Given the description of an element on the screen output the (x, y) to click on. 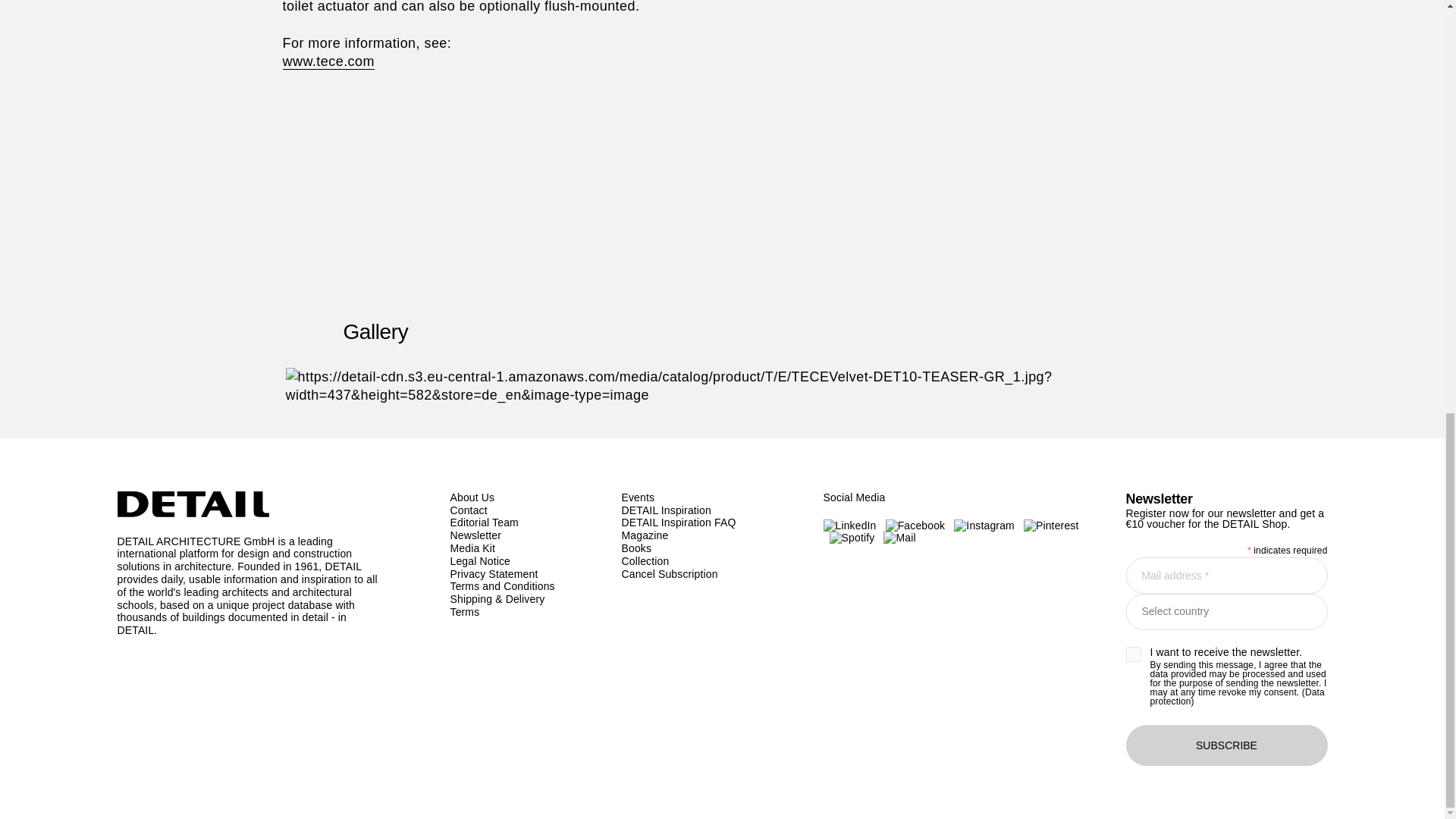
on (1132, 654)
SUBSCRIBE (1225, 744)
Opens external link in new window (328, 61)
